Given the description of an element on the screen output the (x, y) to click on. 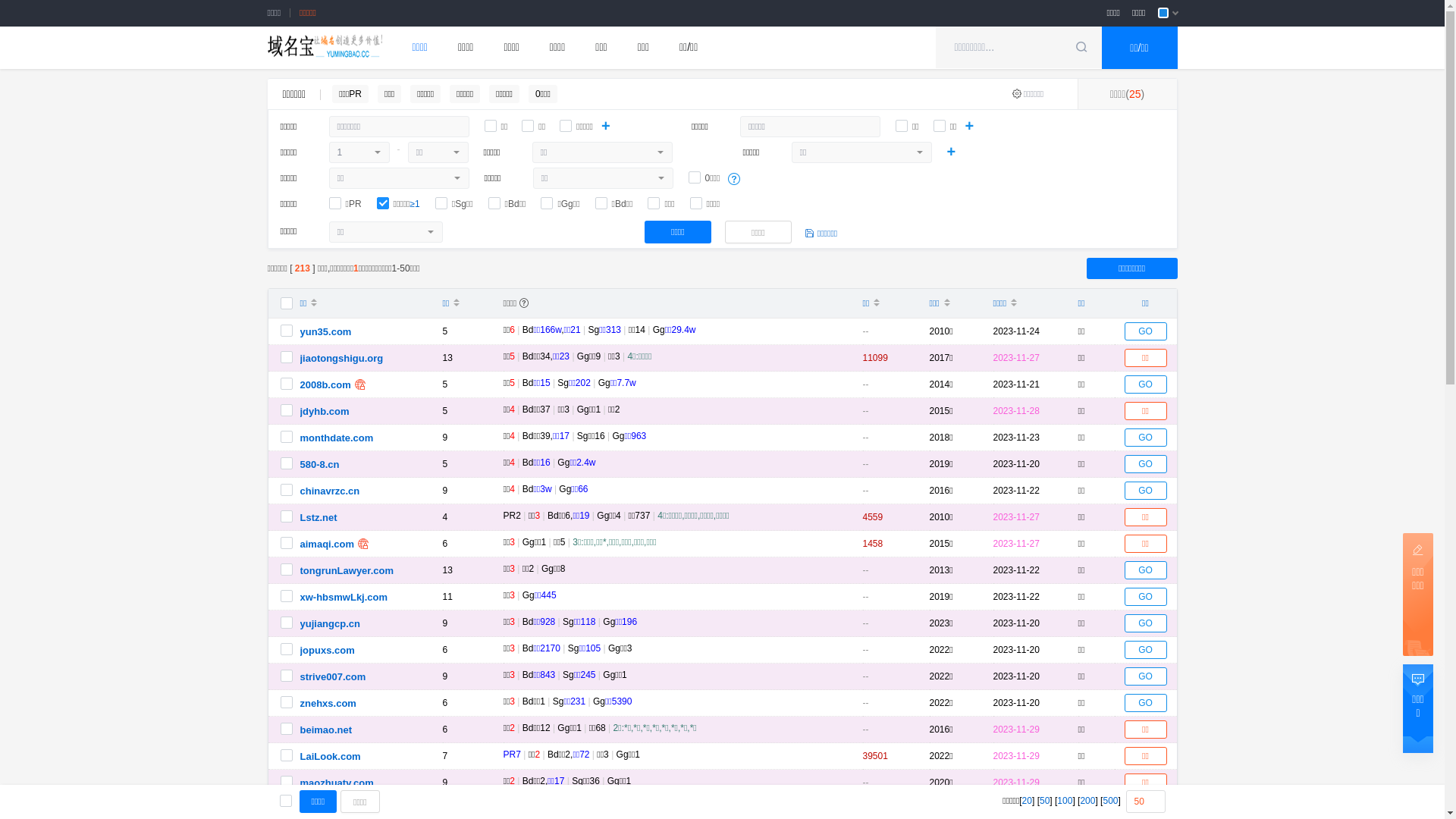
2008b.com Element type: text (325, 384)
tongrunLawyer.com Element type: text (347, 570)
4559 Element type: text (872, 516)
LaiLook.com Element type: text (330, 756)
GO Element type: text (1144, 490)
GO Element type: text (1144, 437)
strive007.com Element type: text (333, 676)
580-8.cn Element type: text (319, 464)
yun35.com Element type: text (325, 331)
GO Element type: text (1144, 464)
znehxs.com Element type: text (328, 703)
20 Element type: text (1027, 800)
PR2 Element type: text (511, 515)
GO Element type: text (1144, 331)
GO Element type: text (1144, 649)
GO Element type: text (1144, 384)
aimaqi.com Element type: text (327, 543)
100 Element type: text (1064, 800)
GO Element type: text (1144, 623)
jiaotongshigu.org Element type: text (341, 358)
xw-hbsmwLkj.com Element type: text (344, 596)
GO Element type: text (1144, 596)
500 Element type: text (1109, 800)
chinavrzc.cn Element type: text (330, 490)
GO Element type: text (1144, 676)
1458 Element type: text (872, 543)
beimao.net Element type: text (326, 729)
GO Element type: text (1144, 702)
200 Element type: text (1087, 800)
maozhuatv.com Element type: text (336, 782)
monthdate.com Element type: text (336, 437)
530 Element type: text (870, 808)
39501 Element type: text (875, 755)
GO Element type: text (1144, 570)
jopuxs.com Element type: text (327, 649)
Lstz.net Element type: text (318, 517)
PR7 Element type: text (511, 754)
11099 Element type: text (875, 357)
cj0571.com Element type: text (326, 809)
50 Element type: text (1044, 800)
jdyhb.com Element type: text (324, 411)
yujiangcp.cn Element type: text (330, 623)
